Given the description of an element on the screen output the (x, y) to click on. 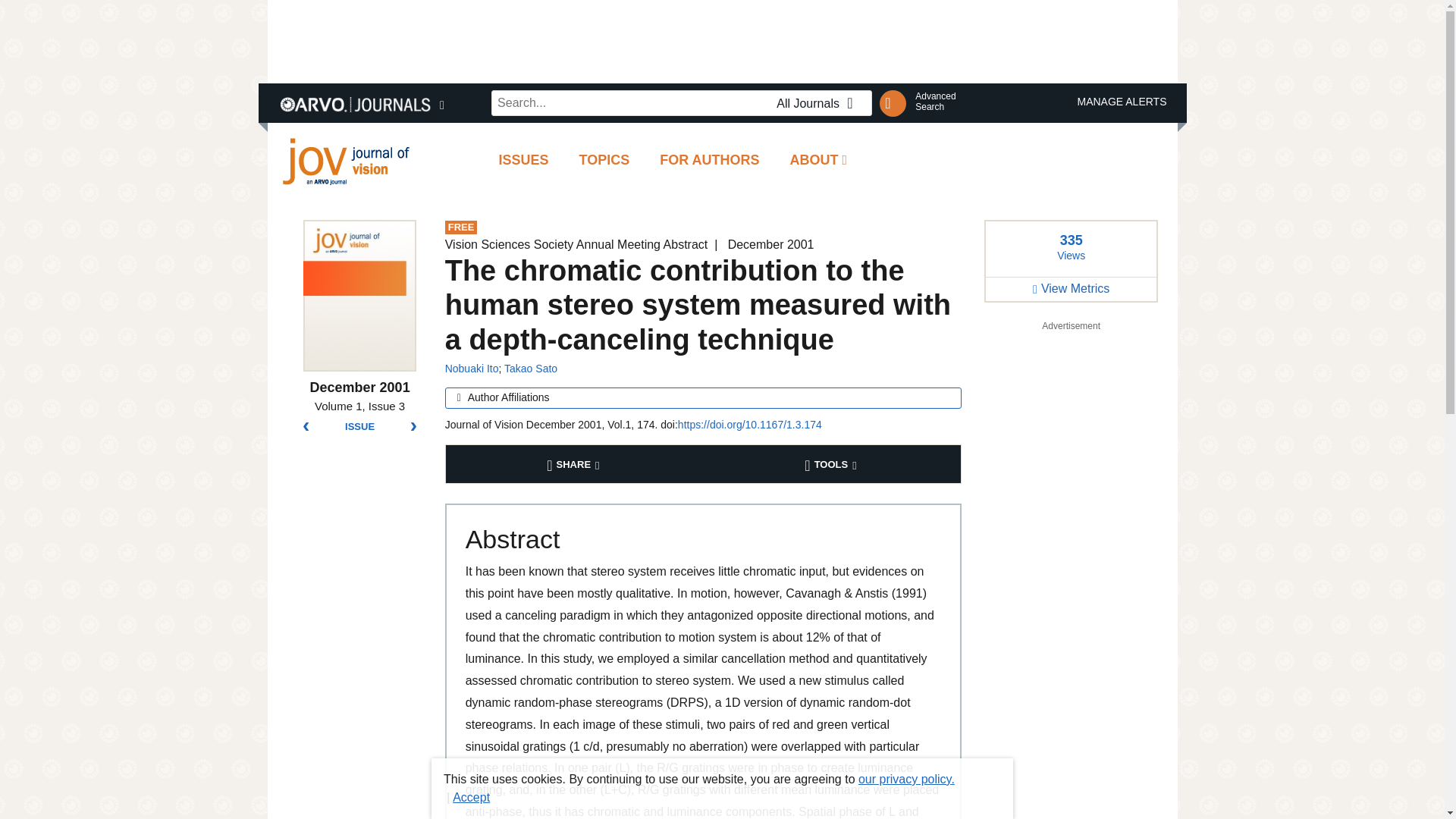
Nobuaki Ito (472, 368)
ABOUT (818, 160)
All Journals (819, 103)
Takao Sato (935, 101)
SHARE (530, 368)
3rd party ad content (574, 464)
ISSUES (721, 41)
TOPICS (523, 160)
FOR AUTHORS (604, 160)
